Given the description of an element on the screen output the (x, y) to click on. 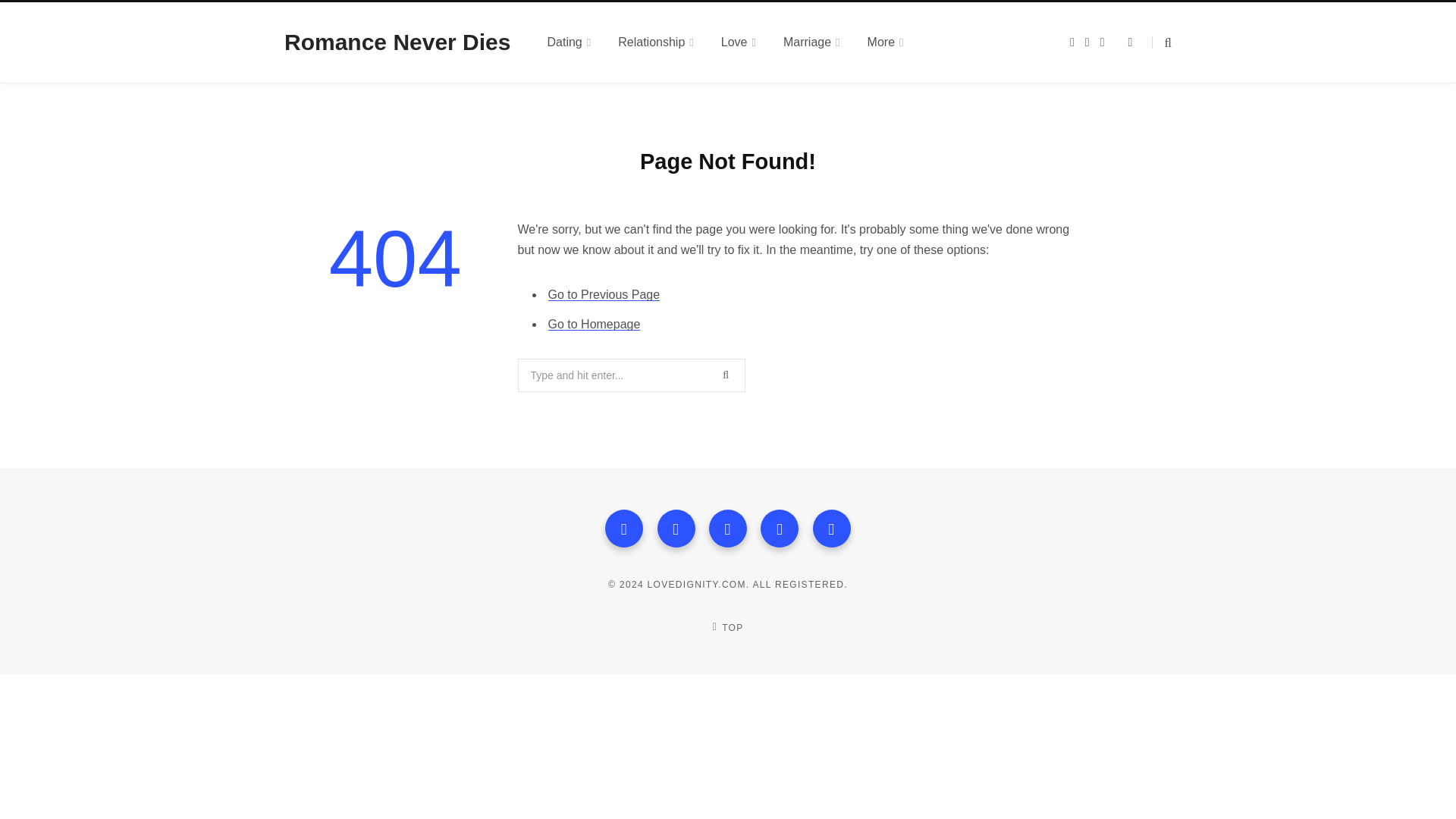
Go to Homepage (593, 323)
Romance Never Dies (397, 42)
Romance Never Dies (397, 42)
Relationship (655, 41)
Instagram (727, 528)
Go to Previous Page (603, 294)
Love (738, 41)
Marriage (811, 41)
More (885, 41)
Search (1161, 42)
